Given the description of an element on the screen output the (x, y) to click on. 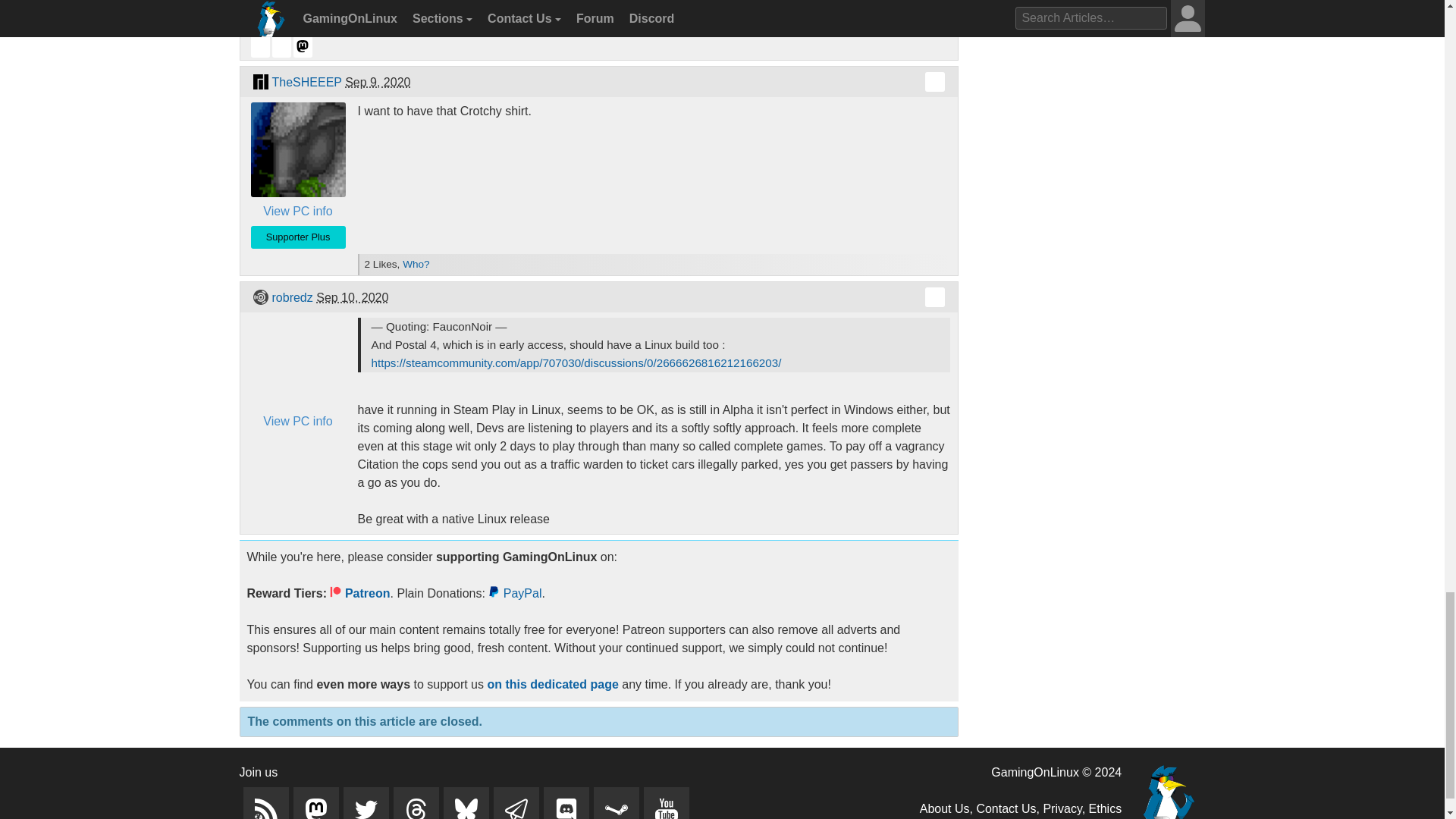
Link to this comment (934, 297)
Link to this comment (934, 81)
Ubuntu Studio (259, 297)
Manjaro (259, 81)
